Given the description of an element on the screen output the (x, y) to click on. 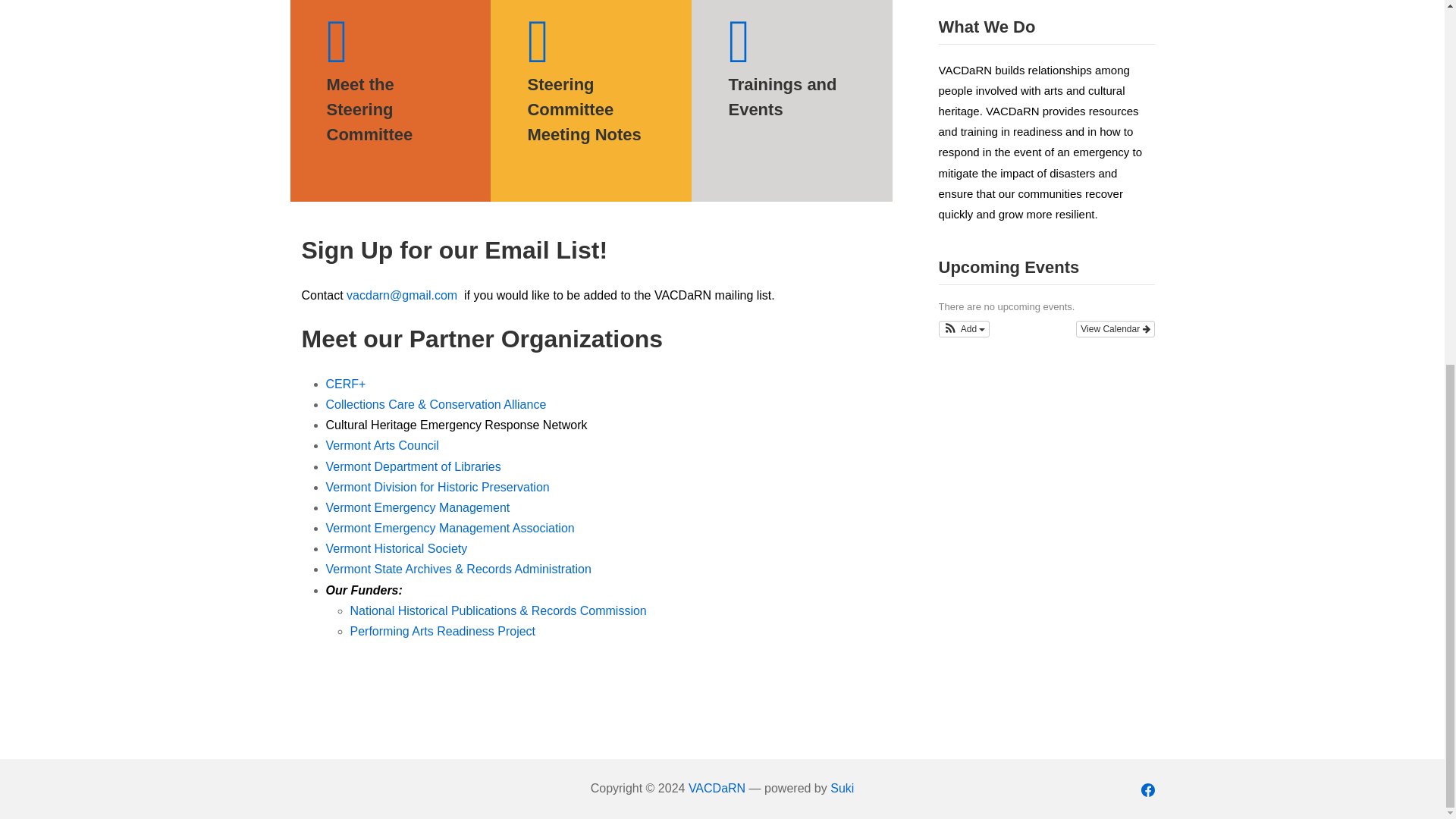
Vermont Emergency Management Association (450, 527)
Performing Arts Readiness Project (442, 631)
Facebook (1147, 789)
Vermont Division for Historic Preservation (438, 486)
Vermont Historical Society (396, 548)
View Calendar (1114, 329)
Vermont Emergency Management (418, 507)
Vermont Arts Council (382, 445)
Vermont Department of Libraries (413, 466)
